Given the description of an element on the screen output the (x, y) to click on. 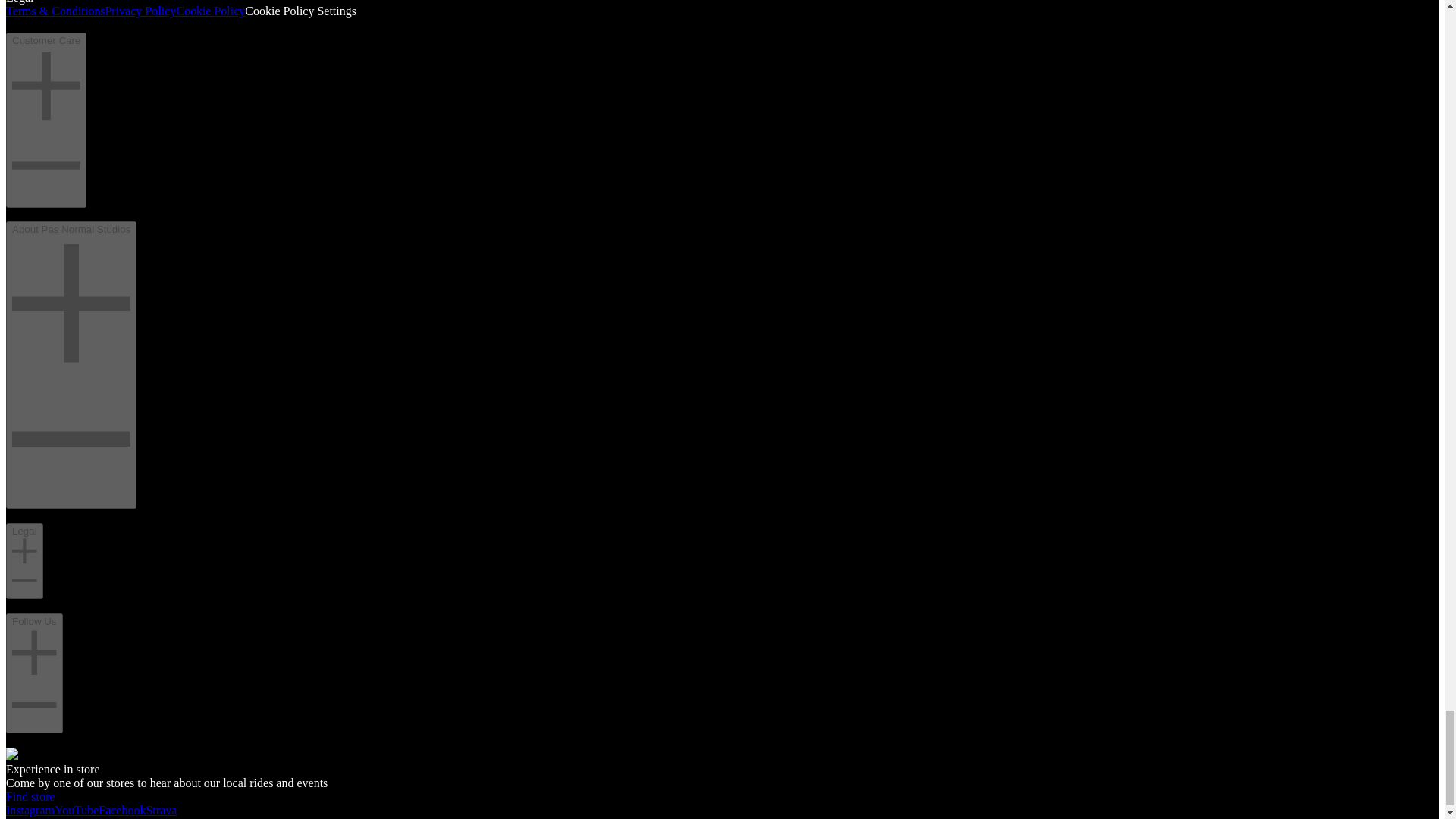
Cookie Policy (210, 10)
Privacy Policy (140, 10)
